Given the description of an element on the screen output the (x, y) to click on. 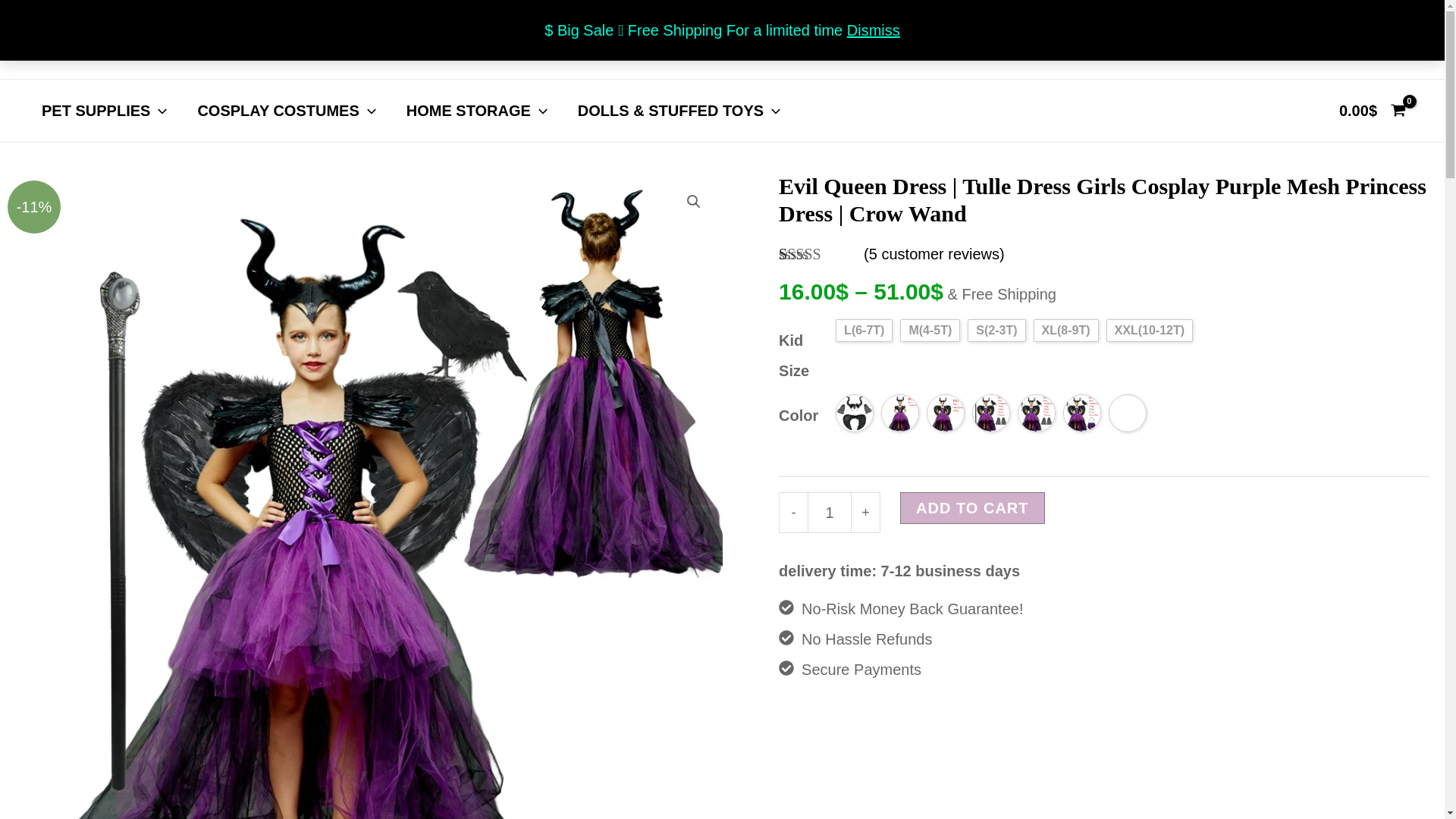
COSPLAY COSTUMES (286, 109)
Blog (1293, 39)
HOME STORAGE (476, 109)
Dress Sets 02 (944, 412)
Acc Sets (853, 412)
Contact us (419, 39)
Track your order (540, 39)
Dress Sets 03 (991, 412)
LOG IN (1392, 39)
Dress Sets 04 (1036, 412)
